Given the description of an element on the screen output the (x, y) to click on. 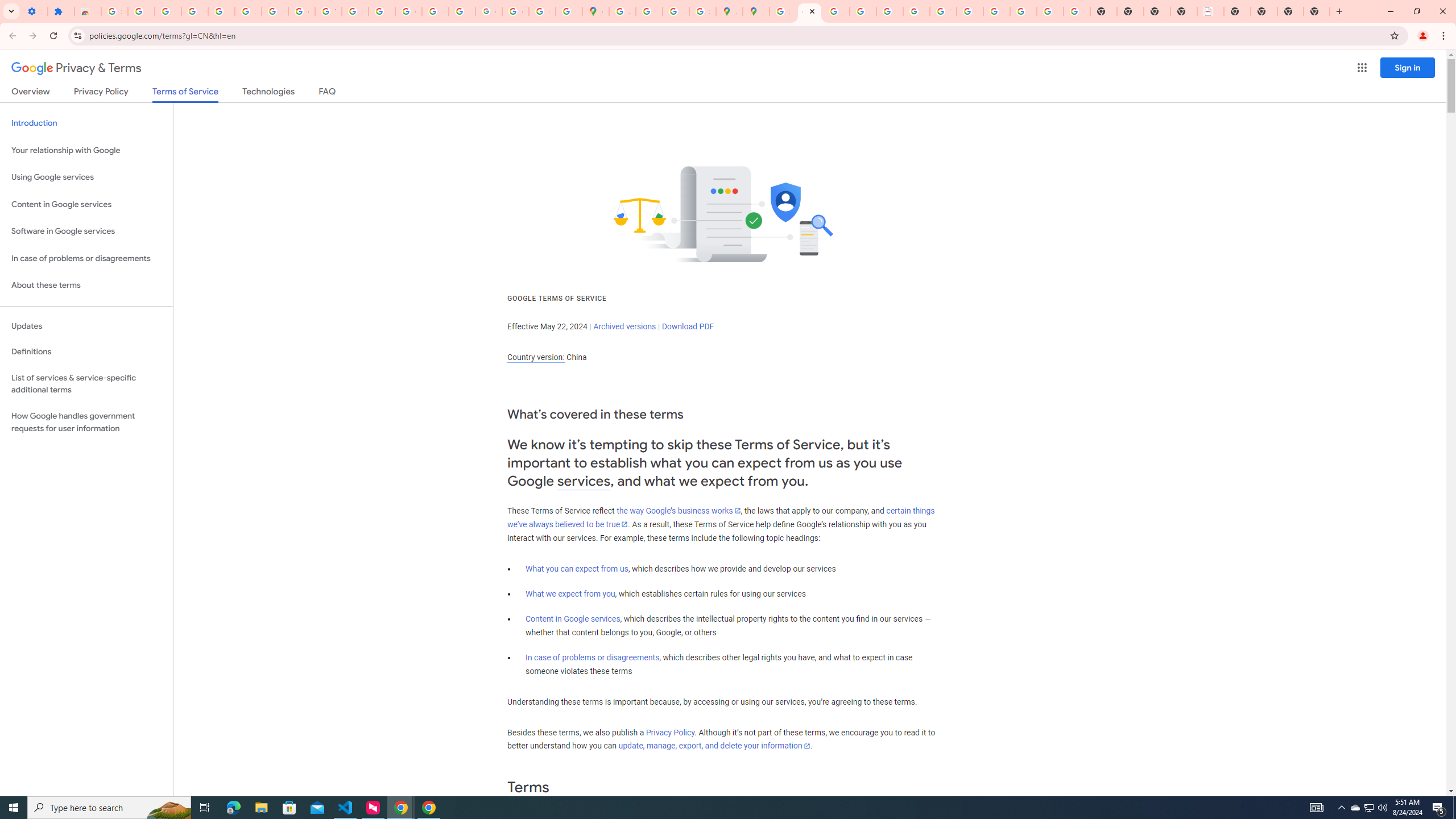
services (583, 480)
LAAD Defence & Security 2025 | BAE Systems (1210, 11)
Archived versions (624, 326)
Google Account (301, 11)
Sign in - Google Accounts (248, 11)
Country version: (535, 357)
